Given the description of an element on the screen output the (x, y) to click on. 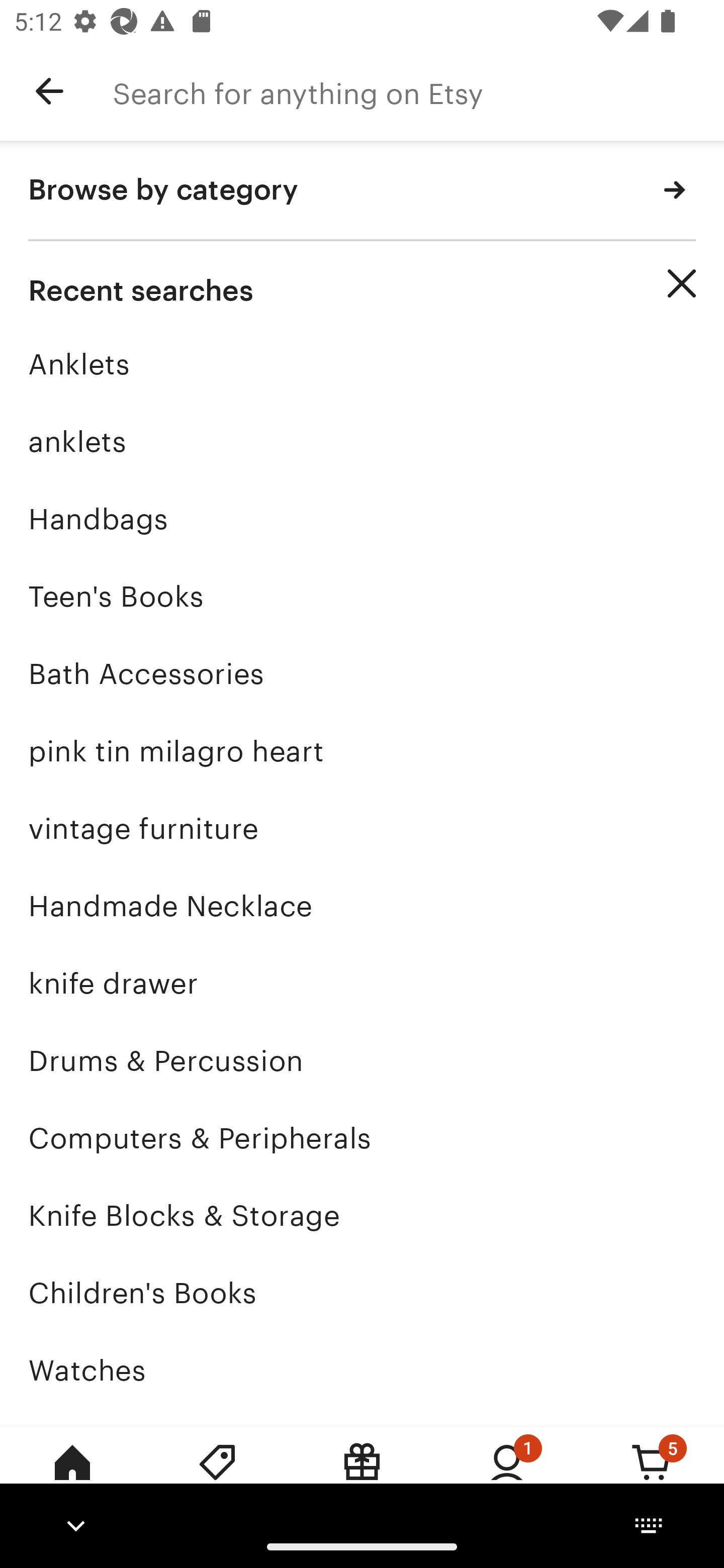
Navigate up (49, 91)
Search for anything on Etsy (418, 91)
Browse by category (362, 191)
Clear (681, 283)
Anklets (362, 364)
anklets (362, 440)
Handbags (362, 518)
Teen's Books (362, 596)
Bath Accessories (362, 673)
pink tin milagro heart (362, 750)
vintage furniture (362, 828)
Handmade Necklace (362, 906)
knife drawer (362, 983)
Drums & Percussion (362, 1060)
Computers & Peripherals (362, 1138)
Knife Blocks & Storage (362, 1215)
Children's Books (362, 1292)
Watches (362, 1370)
Deals (216, 1475)
Gift Mode (361, 1475)
You, 1 new notification (506, 1475)
Cart, 5 new notifications (651, 1475)
